Given the description of an element on the screen output the (x, y) to click on. 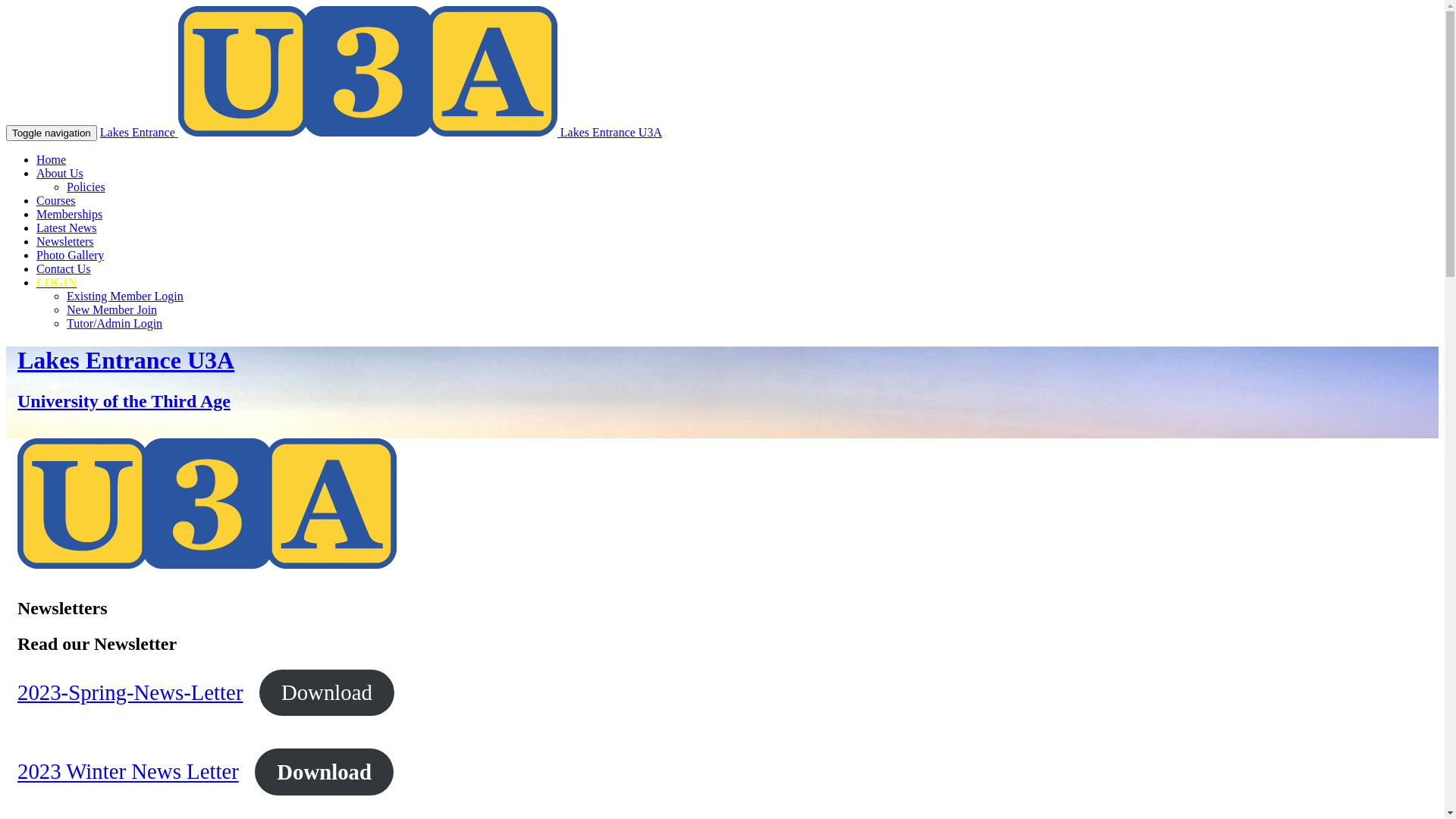
Contact Us Element type: text (63, 268)
Existing Member Login Element type: text (124, 295)
Newsletters Element type: text (65, 241)
Download Element type: text (326, 691)
Latest News Element type: text (66, 227)
New Member Join Element type: text (111, 309)
2023 Winter News Letter Element type: text (127, 771)
Toggle navigation Element type: text (51, 133)
Policies Element type: text (85, 186)
Home Element type: text (50, 159)
Lakes Entrance Lakes Entrance U3A Element type: text (381, 131)
About Us Element type: text (59, 172)
Lakes Entrance U3A
University of the Third Age Element type: text (722, 378)
Courses Element type: text (55, 200)
2023-Spring-News-Letter Element type: text (130, 692)
Download Element type: text (323, 771)
Photo Gallery Element type: text (69, 254)
Tutor/Admin Login Element type: text (114, 322)
Memberships Element type: text (69, 213)
LOGIN Element type: text (56, 282)
